Given the description of an element on the screen output the (x, y) to click on. 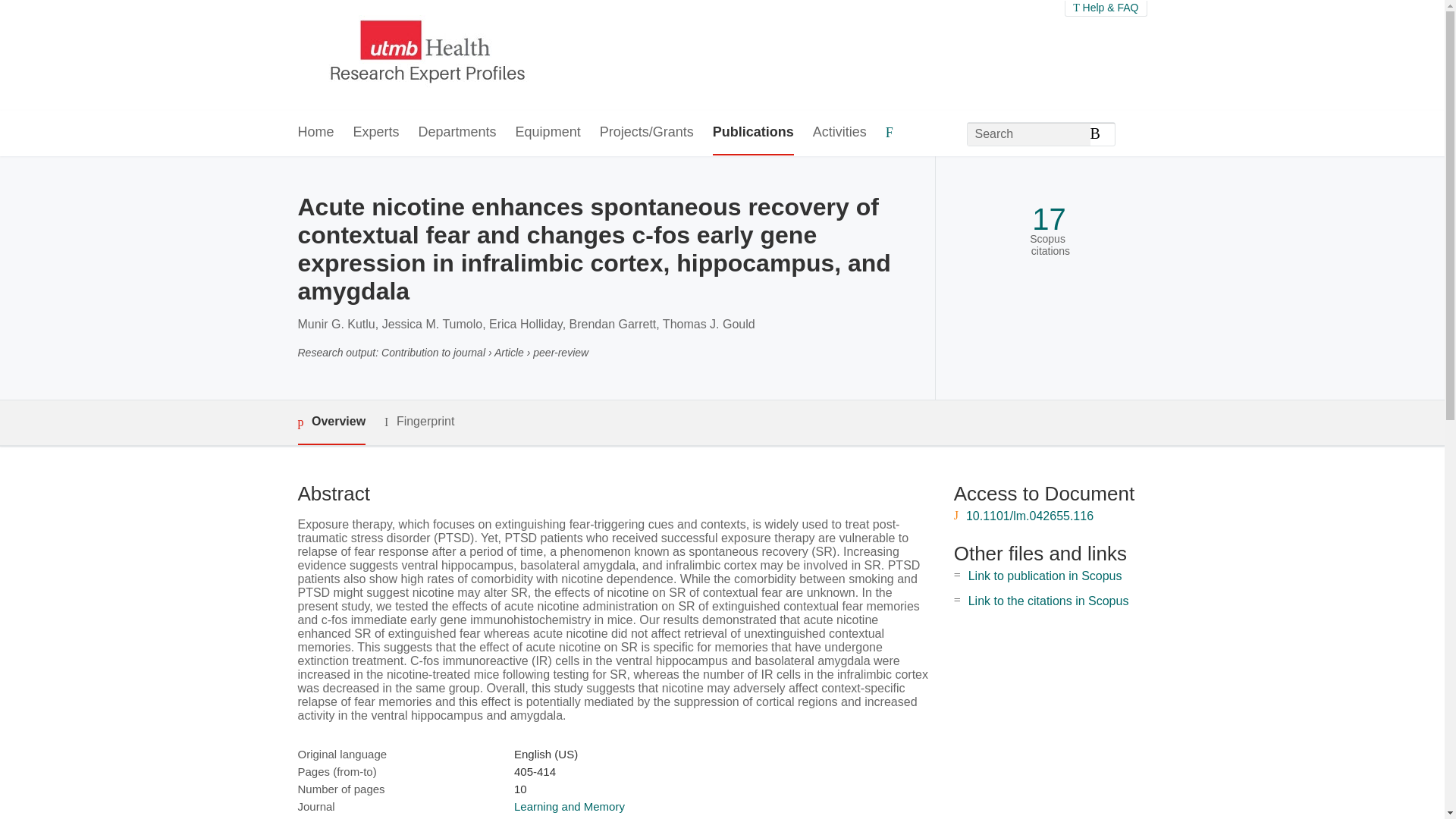
Overview (331, 422)
Activities (839, 132)
Fingerprint (419, 421)
Experts (375, 132)
Equipment (547, 132)
Learning and Memory (568, 806)
Link to publication in Scopus (1045, 575)
Publications (753, 132)
UTMB Health Research Expert Profiles Home (424, 55)
